Given the description of an element on the screen output the (x, y) to click on. 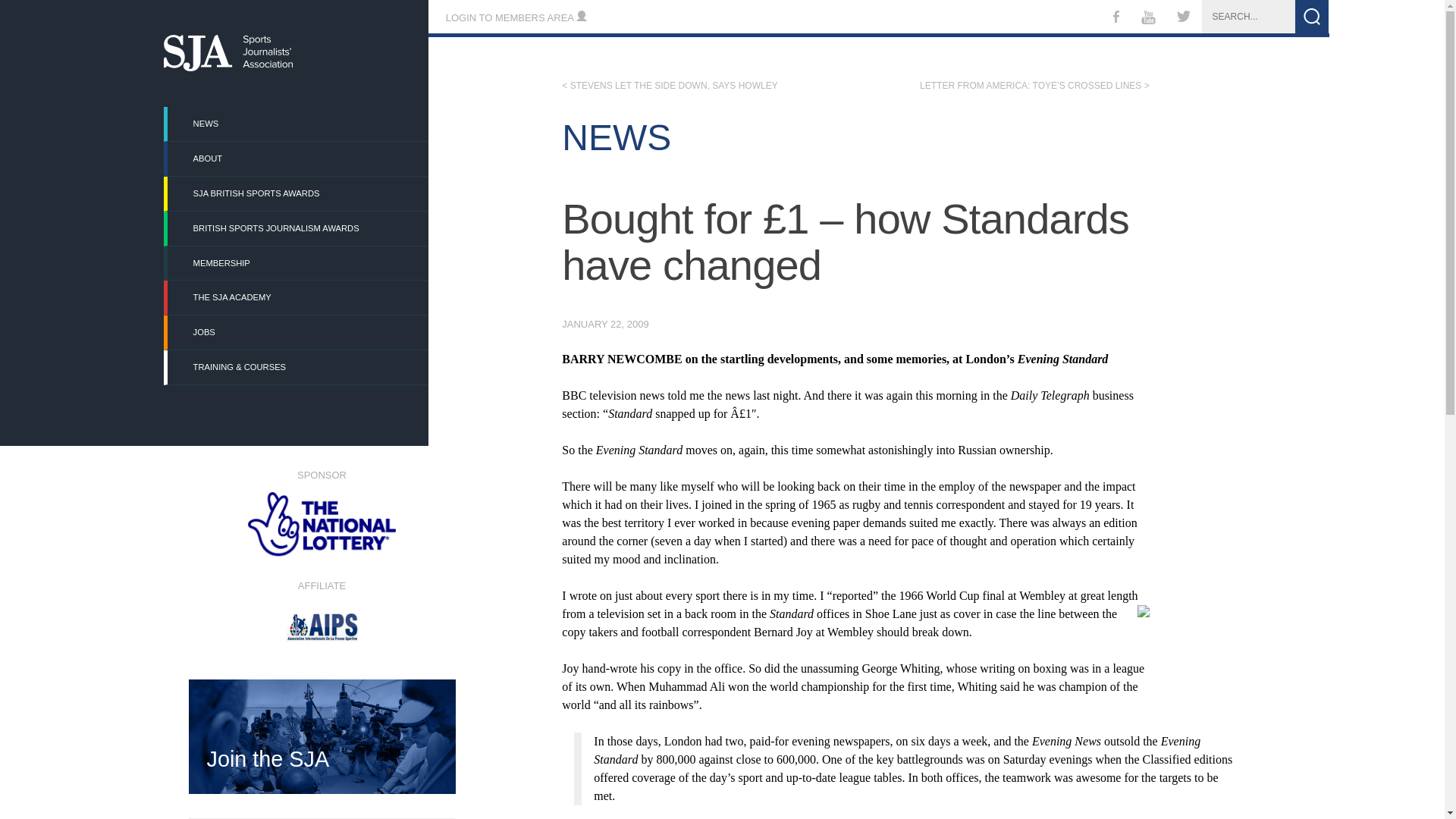
ABOUT (297, 158)
Login to Members Area (514, 18)
MEMBERSHIP (297, 263)
JOBS (297, 332)
THE SJA ACADEMY (297, 297)
Twitter (1184, 18)
LOGIN TO MEMBERS AREA (514, 18)
SPONSOR (320, 513)
JANUARY 22, 2009 (604, 324)
YouTube (1147, 19)
NEWS (297, 123)
BRITISH SPORTS JOURNALISM AWARDS (297, 228)
AFFILIATE (320, 609)
SJA BRITISH SPORTS AWARDS (297, 193)
AIPS page (320, 609)
